Given the description of an element on the screen output the (x, y) to click on. 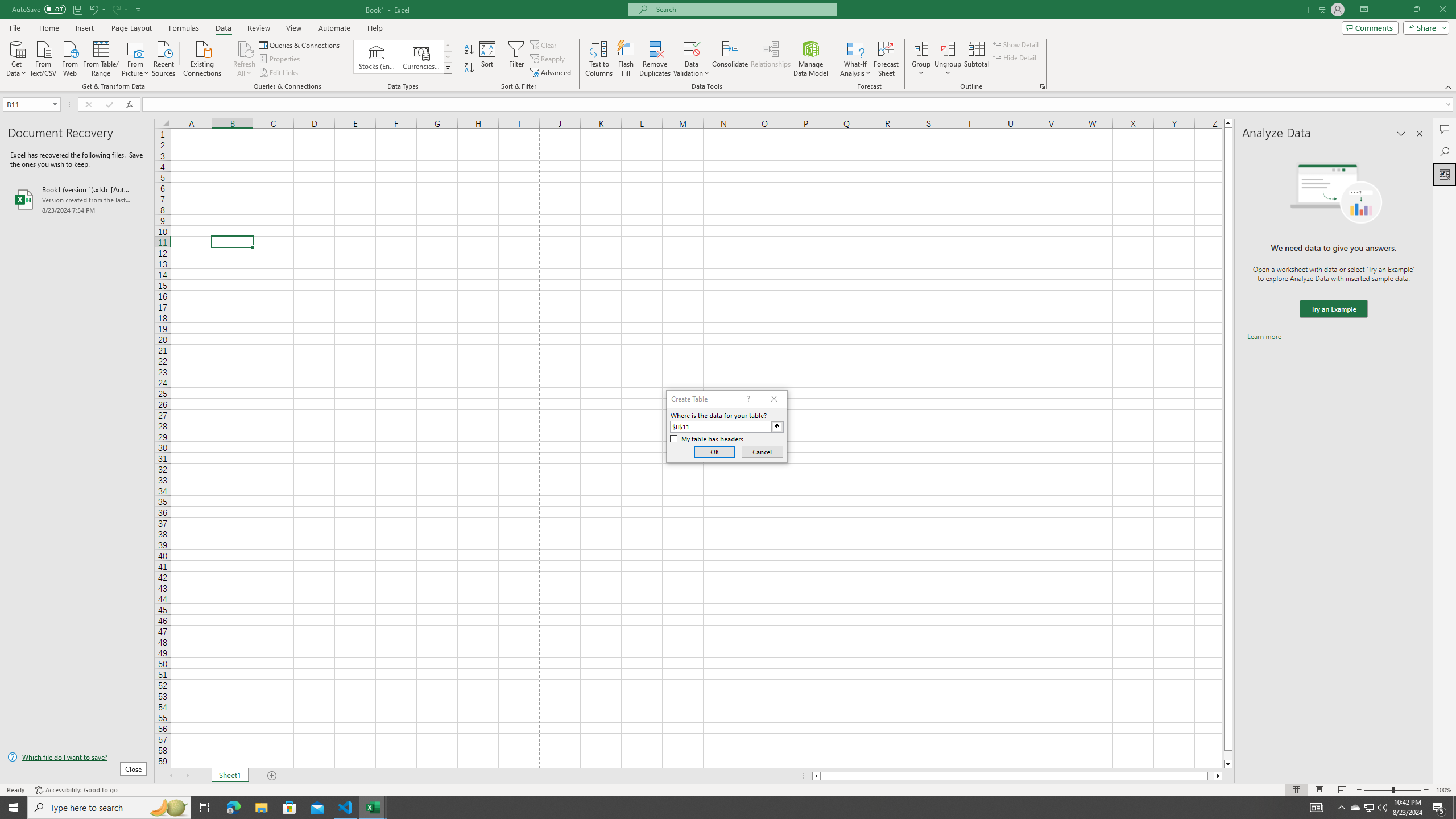
Formula Bar (799, 104)
Ribbon Display Options (1364, 9)
Filter (515, 58)
